Given the description of an element on the screen output the (x, y) to click on. 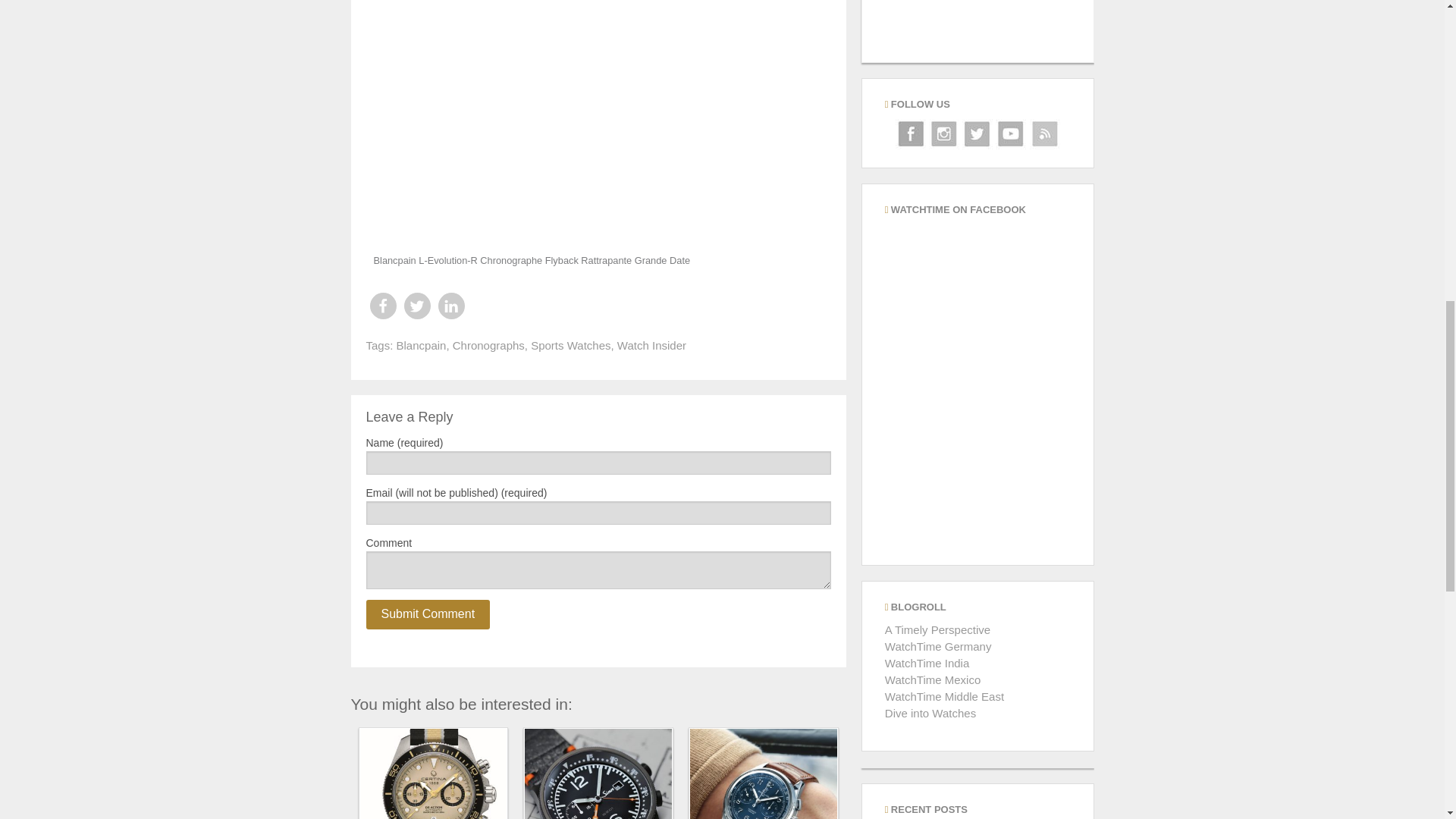
Share on Facebook (382, 305)
Submit Comment (427, 614)
Share on Twitter (416, 305)
Share on LinkedIn (451, 305)
3rd party ad content (976, 31)
